Given the description of an element on the screen output the (x, y) to click on. 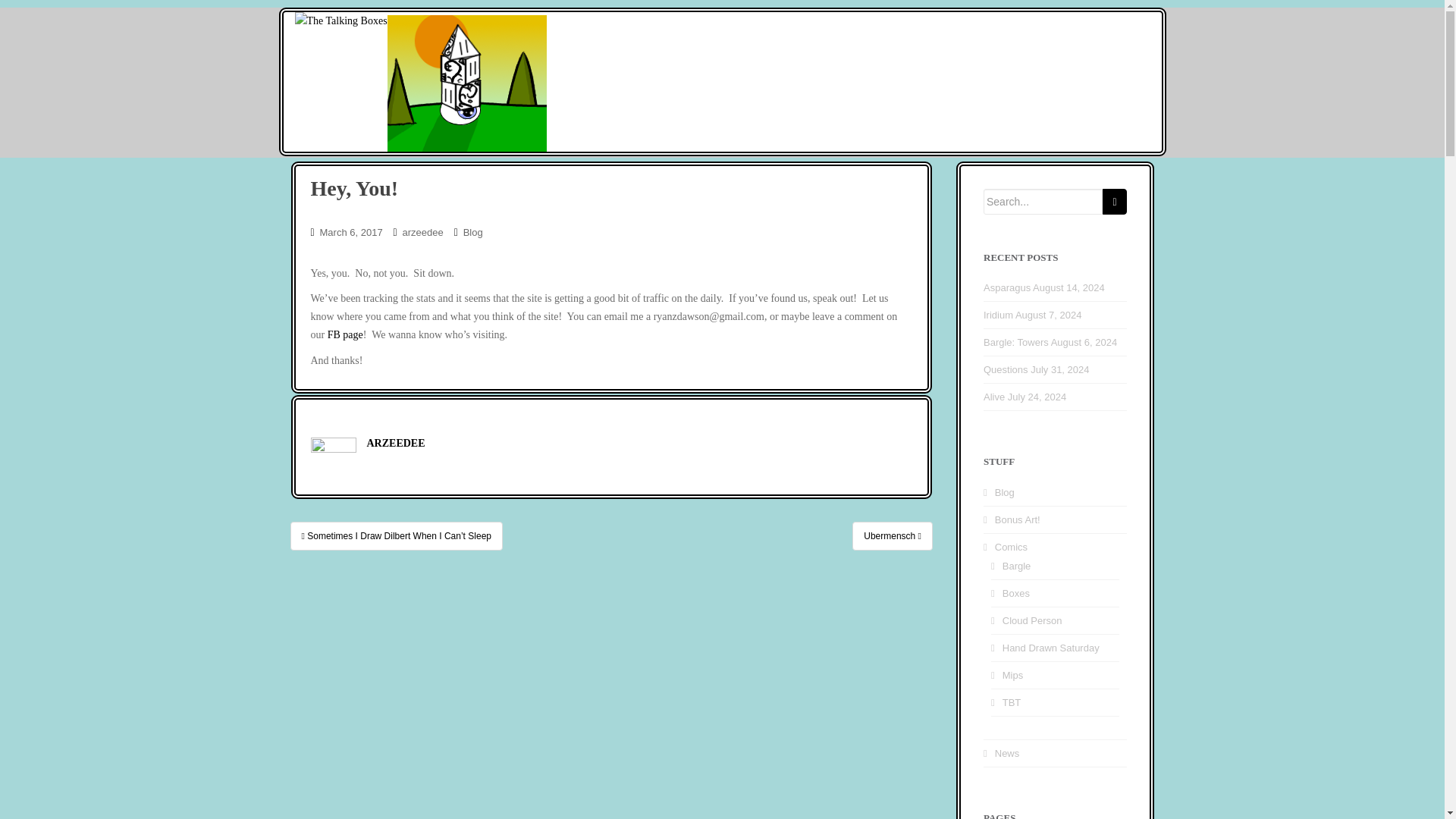
March 6, 2017 (351, 232)
Mips (1013, 674)
Blog (473, 232)
News (1007, 753)
Ubermensch (892, 535)
Questions (1005, 369)
Alive (994, 396)
Bargle: Towers (1016, 342)
Iridium (998, 315)
arzeedee (423, 232)
